Given the description of an element on the screen output the (x, y) to click on. 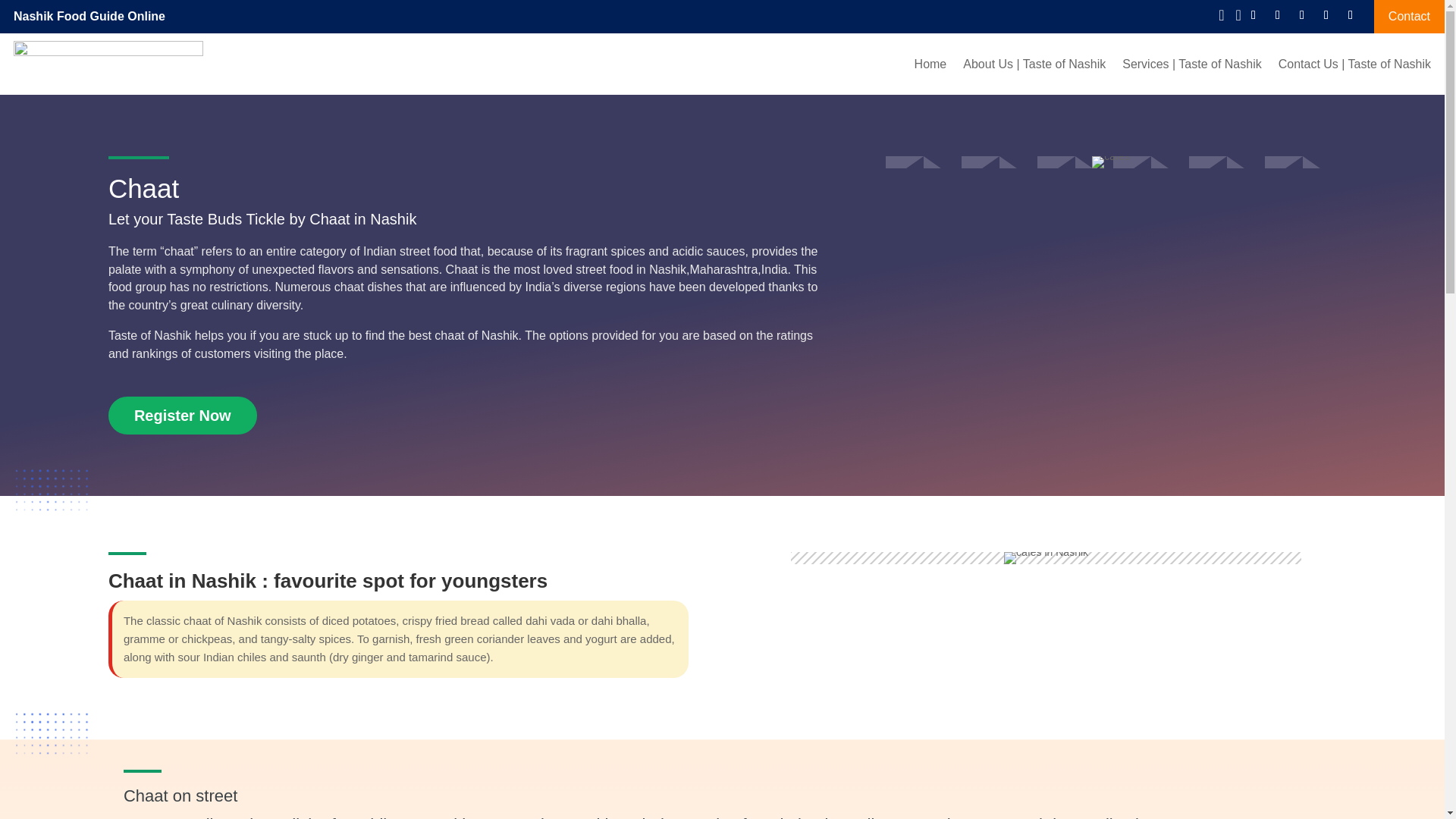
Follow on Facebook (1253, 15)
Follow on Twitter (1277, 15)
Follow on Pinterest (1350, 15)
Follow on Instagram (1326, 15)
Register Now (182, 415)
Follow on Youtube (1302, 15)
